Given the description of an element on the screen output the (x, y) to click on. 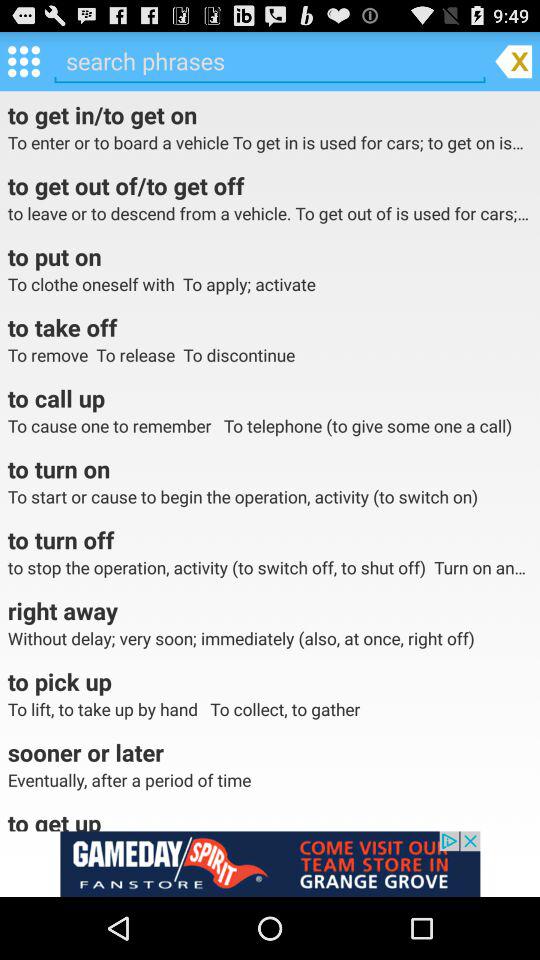
enter search phrase (269, 61)
